Given the description of an element on the screen output the (x, y) to click on. 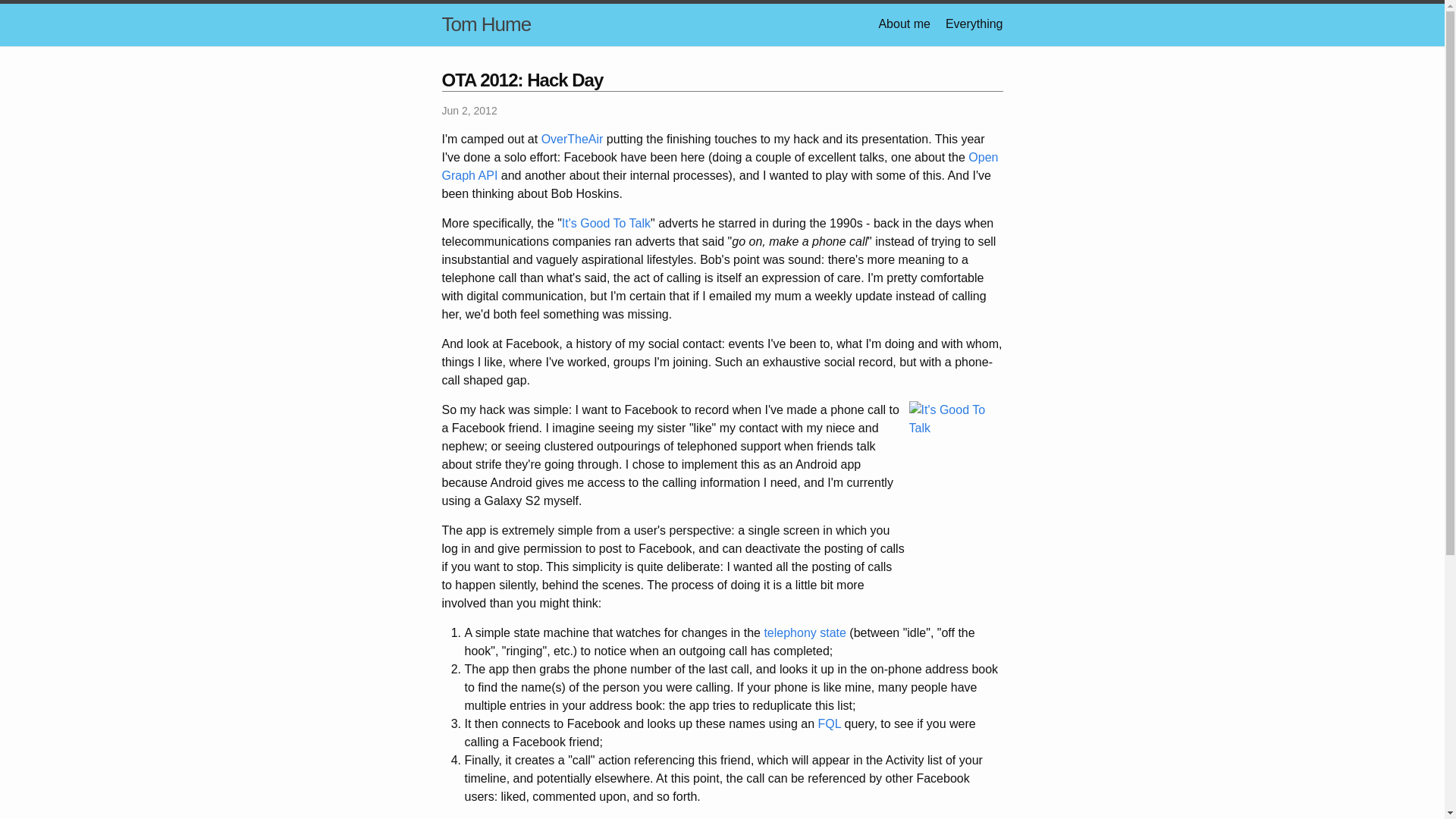
It's Good To Talk (606, 223)
About me (903, 23)
OverTheAir (572, 138)
Tom Hume (486, 24)
Open Graph API (719, 165)
telephony state (803, 632)
FQL (829, 723)
Everything (973, 23)
